Given the description of an element on the screen output the (x, y) to click on. 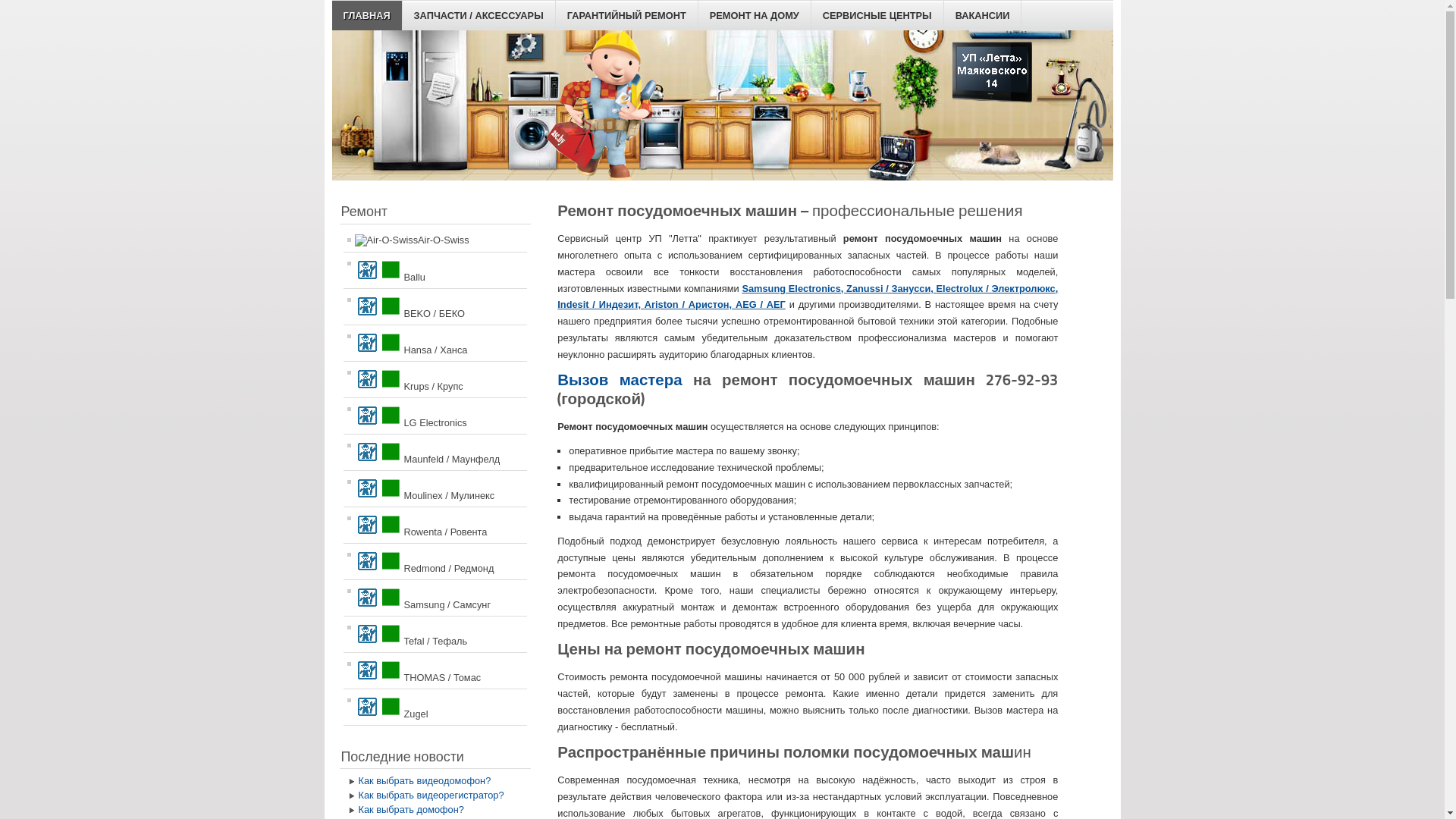
Air-O-Swiss Element type: text (434, 240)
LG Electronics Element type: text (434, 415)
Zugel Element type: text (434, 706)
Samsung Electronics, Element type: text (793, 288)
Ballu Element type: text (434, 270)
